Given the description of an element on the screen output the (x, y) to click on. 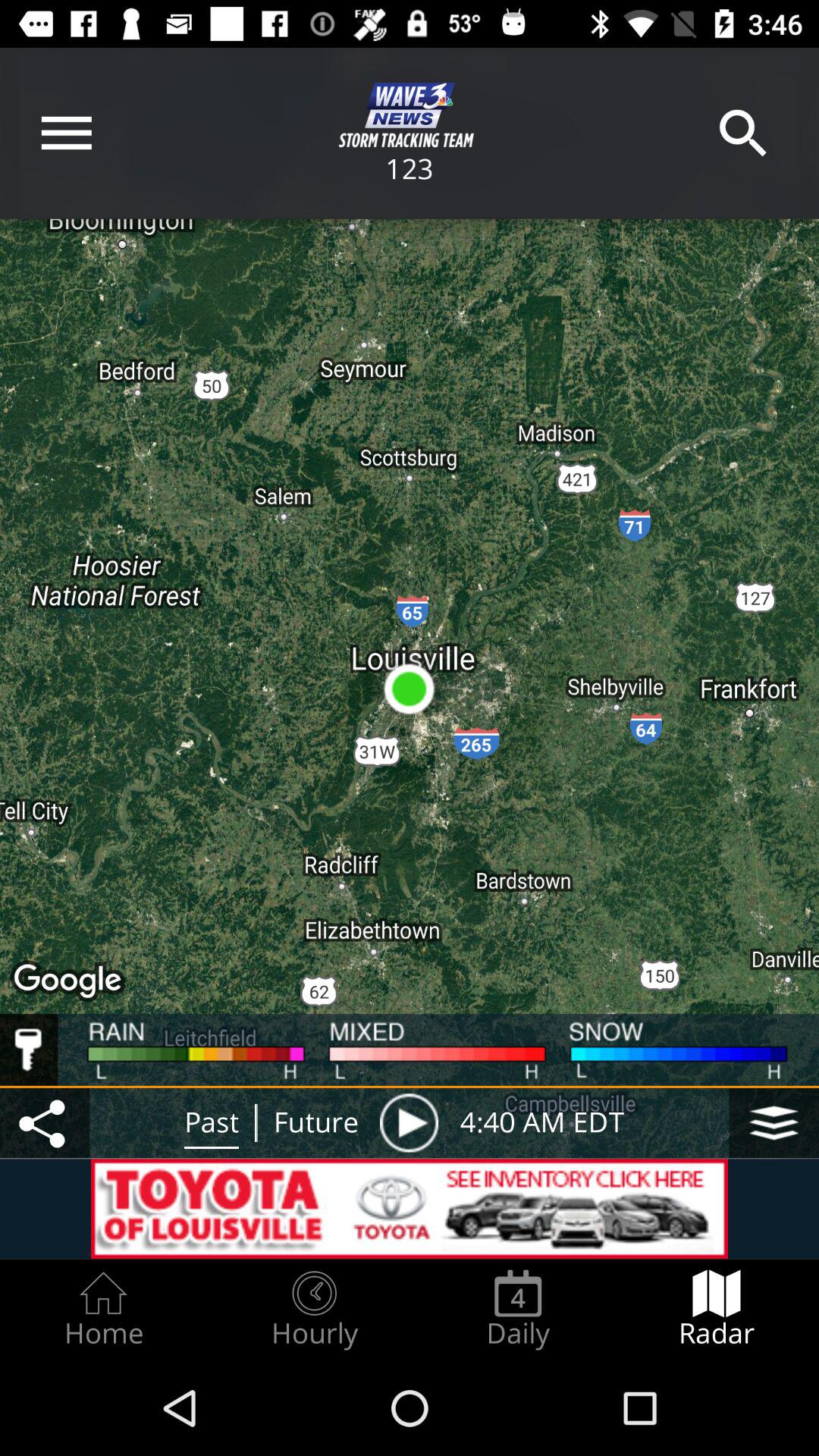
tap radio button next to hourly radio button (103, 1309)
